Given the description of an element on the screen output the (x, y) to click on. 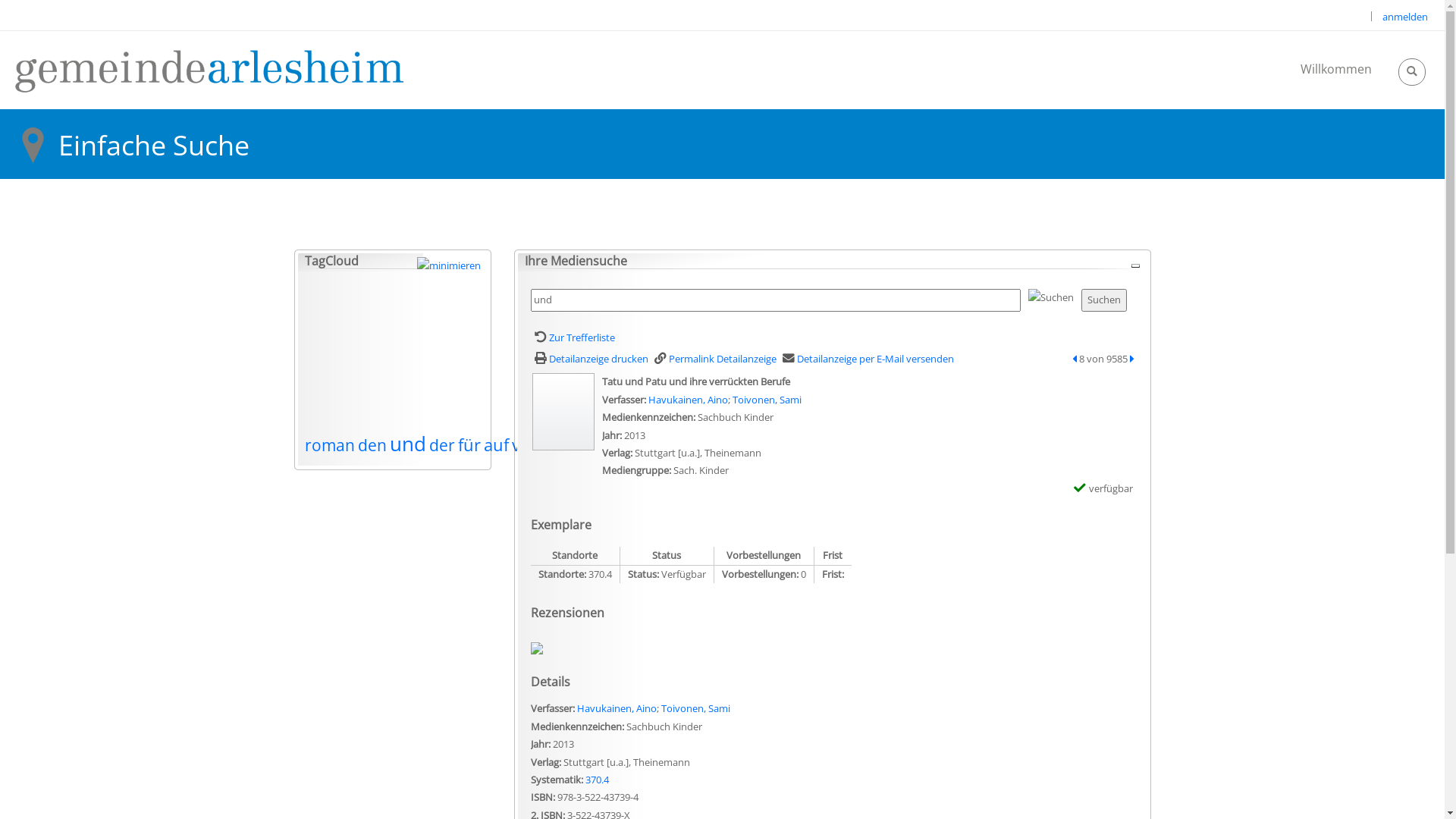
Permalink Detailanzeige Element type: text (713, 358)
Willkommen Element type: text (1335, 68)
minimieren Element type: hover (448, 264)
minimieren Element type: hover (448, 265)
Havukainen, Aino Element type: text (615, 708)
das Element type: text (554, 445)
und Element type: text (407, 443)
auf Element type: text (495, 444)
mit Element type: text (584, 444)
minimieren Element type: hover (1134, 264)
Detailanzeige drucken Element type: text (589, 358)
minimieren Element type: hover (1134, 265)
Havukainen, Aino Element type: text (687, 399)
anmelden Element type: text (1404, 16)
roman Element type: text (329, 444)
den Element type: text (371, 444)
von Element type: text (525, 444)
Detailanzeige per E-Mail versenden Element type: text (865, 358)
Gemeindebibliothek Arlesheim Element type: hover (209, 69)
ist Element type: text (608, 444)
Zur Trefferliste Element type: text (572, 337)
370.4 Element type: text (596, 779)
Suchen Element type: text (1103, 299)
Toivonen, Sami Element type: text (695, 708)
Suchen Element type: hover (1050, 297)
der Element type: text (442, 444)
Toivonen, Sami Element type: text (766, 399)
